Given the description of an element on the screen output the (x, y) to click on. 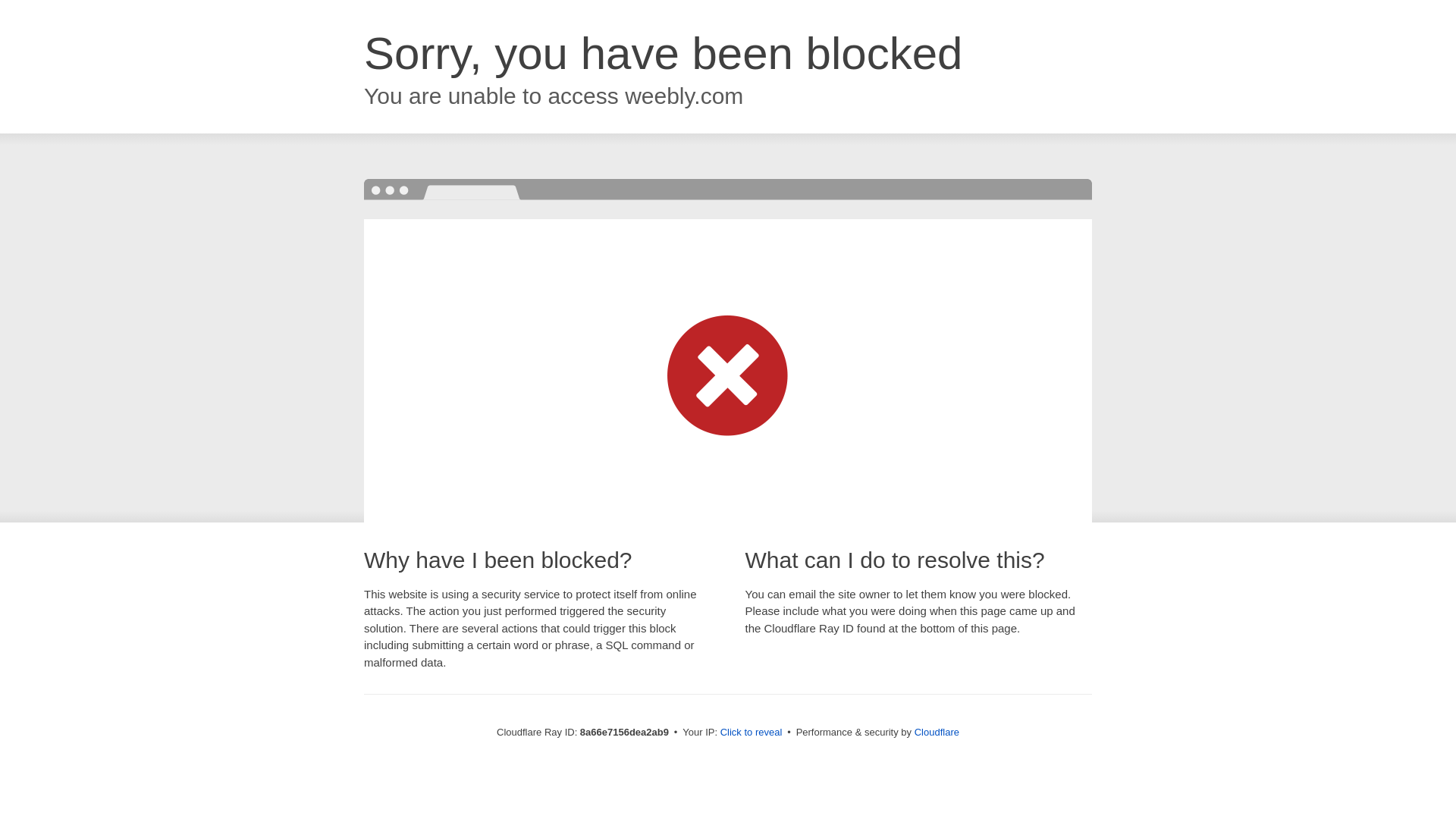
Cloudflare (936, 731)
Click to reveal (751, 732)
